Given the description of an element on the screen output the (x, y) to click on. 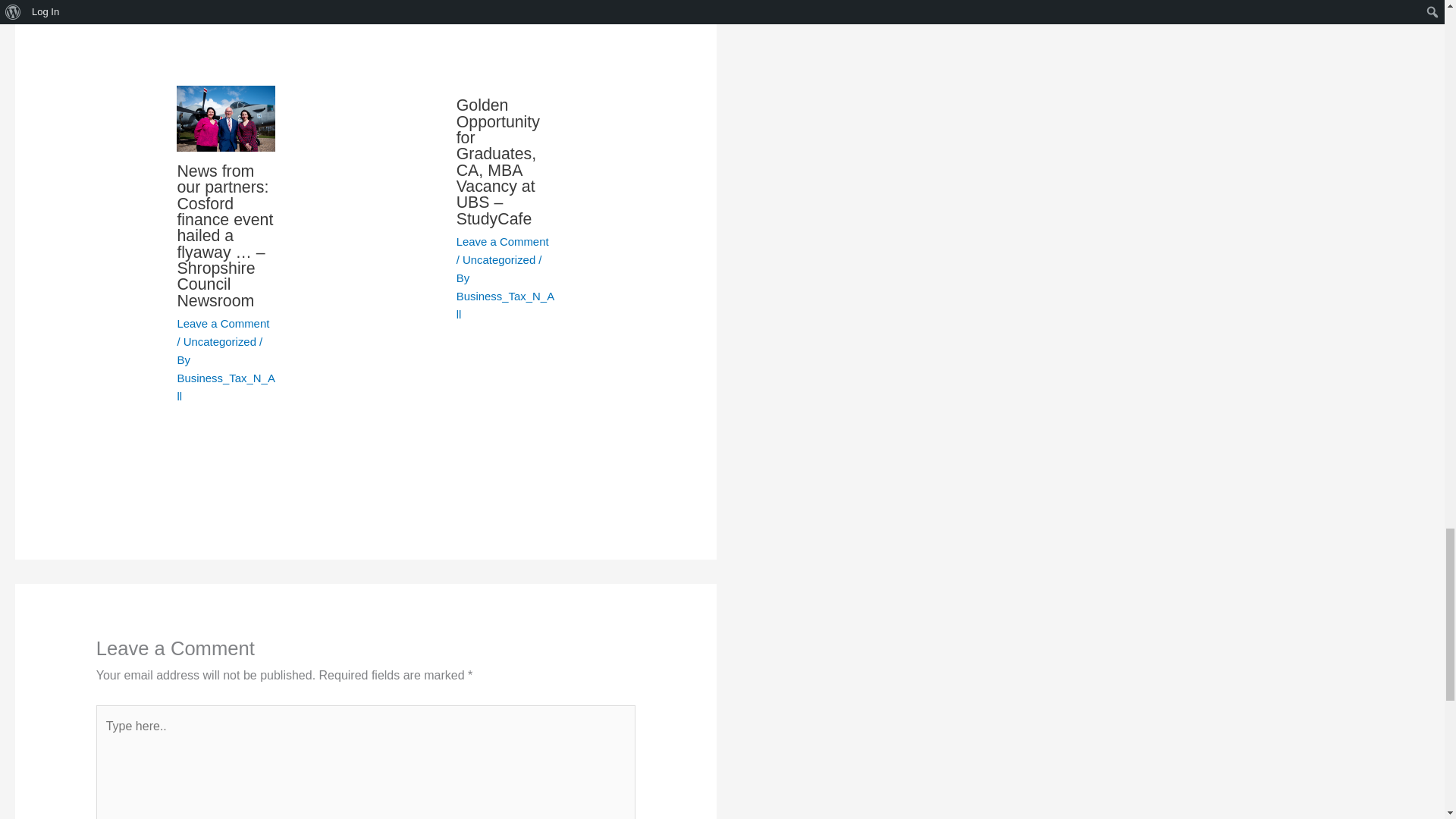
Leave a Comment (222, 323)
Uncategorized (219, 341)
Uncategorized (499, 259)
Leave a Comment (502, 241)
